Given the description of an element on the screen output the (x, y) to click on. 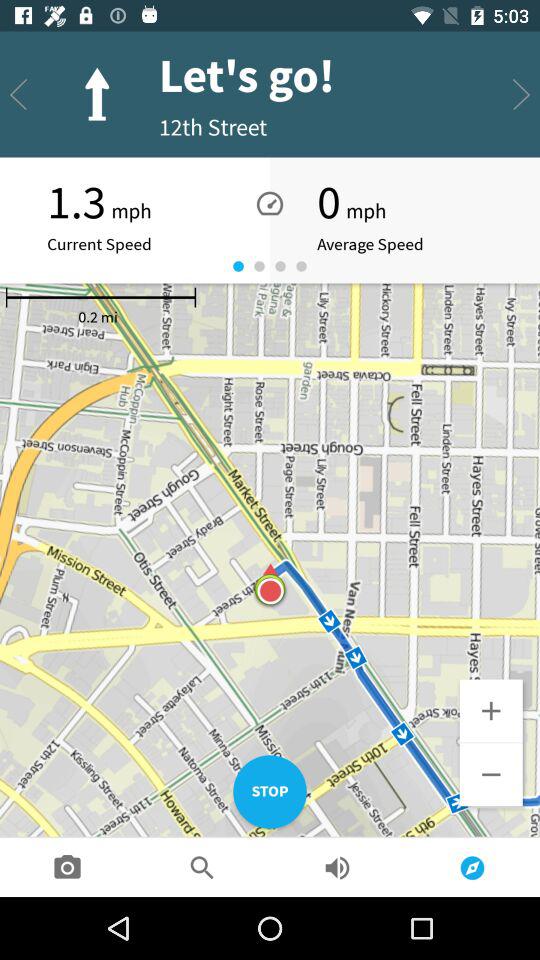
tap the icon at the center (270, 589)
